Given the description of an element on the screen output the (x, y) to click on. 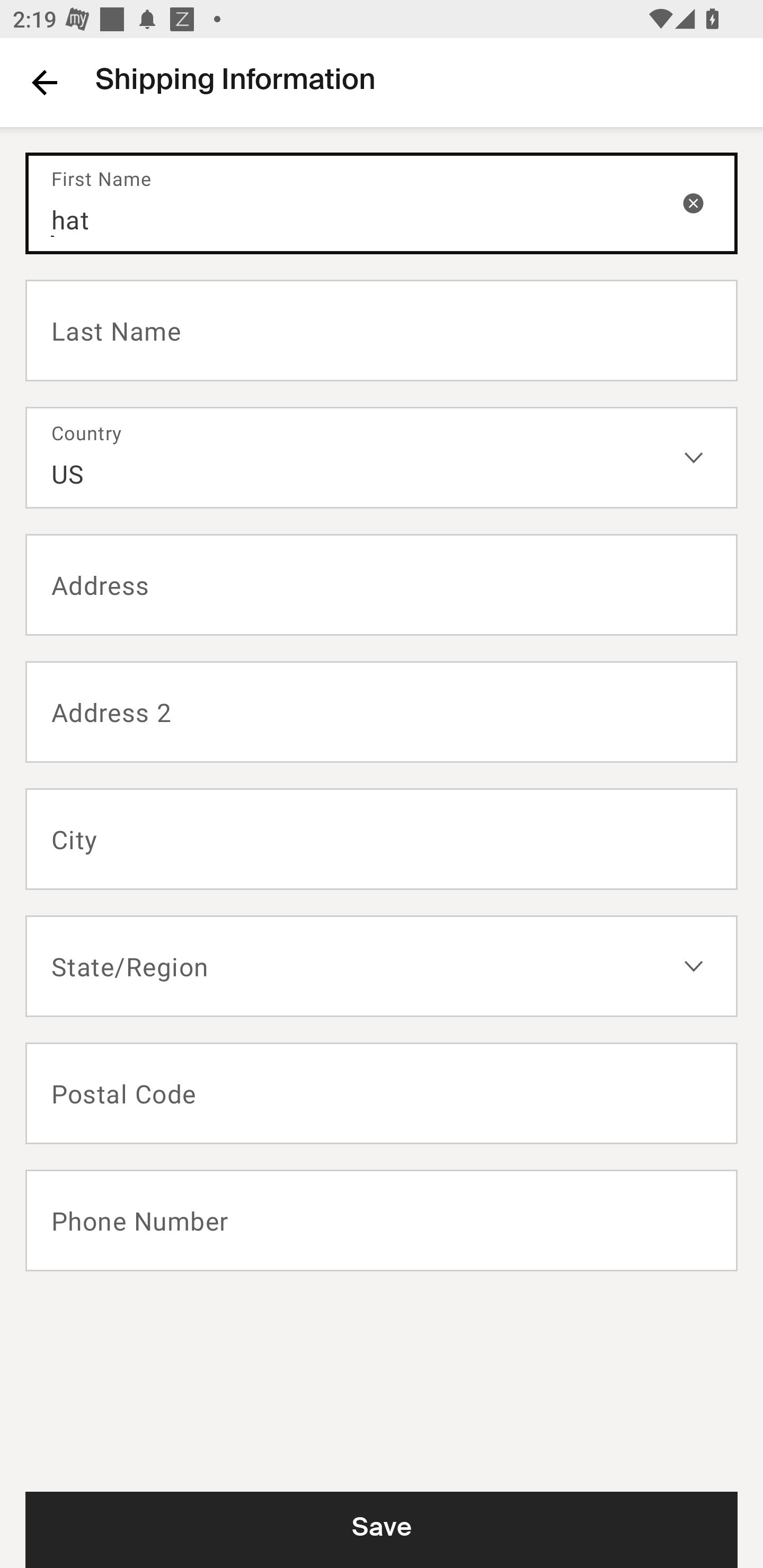
Navigate up (44, 82)
Icon to clear the text entered in field (693, 202)
Last Name (381, 330)
Address (381, 584)
Address 2 (381, 711)
City (381, 839)
Postal Code (381, 1093)
Phone Number (381, 1220)
Save (381, 1529)
